Given the description of an element on the screen output the (x, y) to click on. 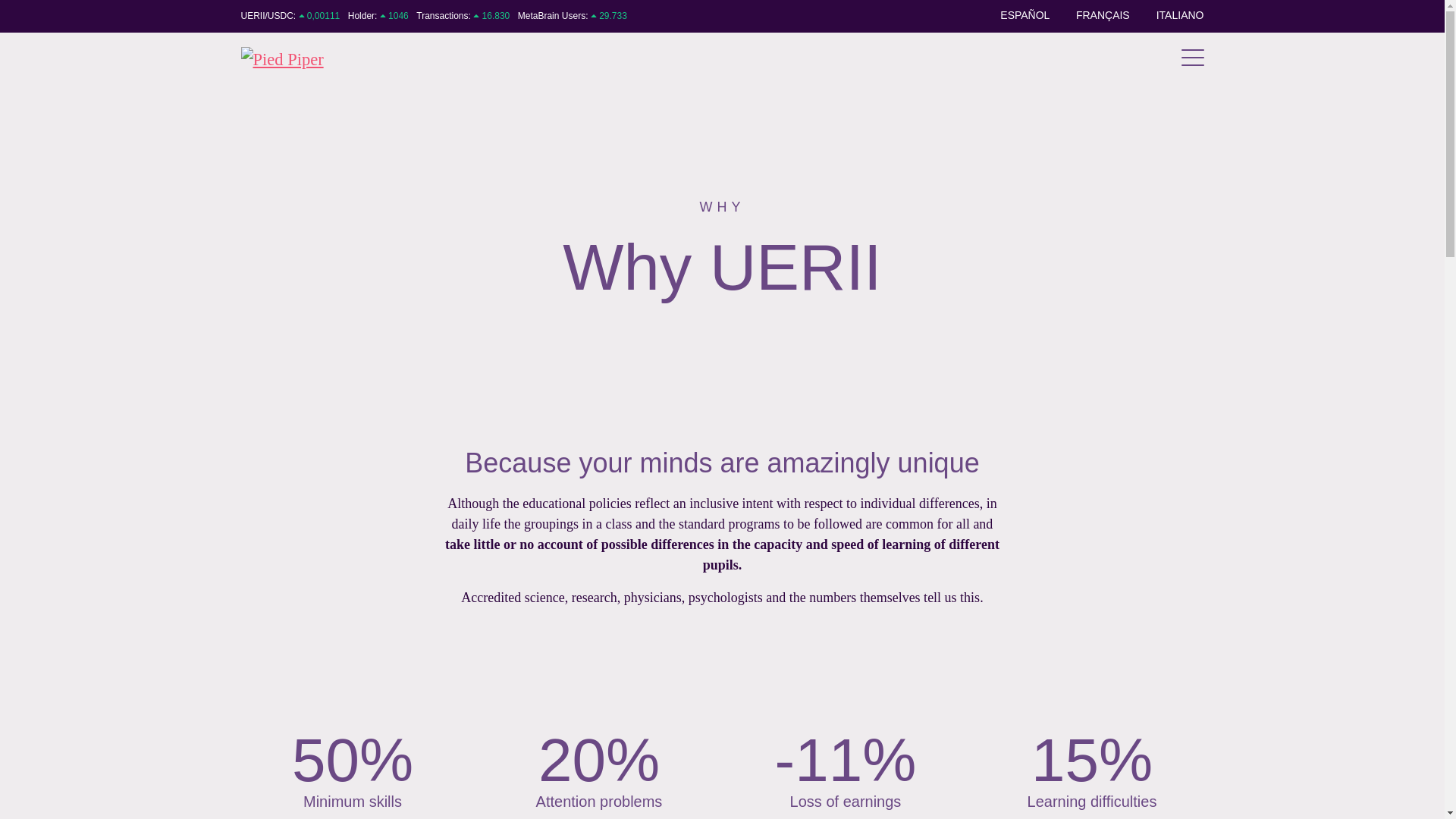
ITALIANO (1180, 15)
